Given the description of an element on the screen output the (x, y) to click on. 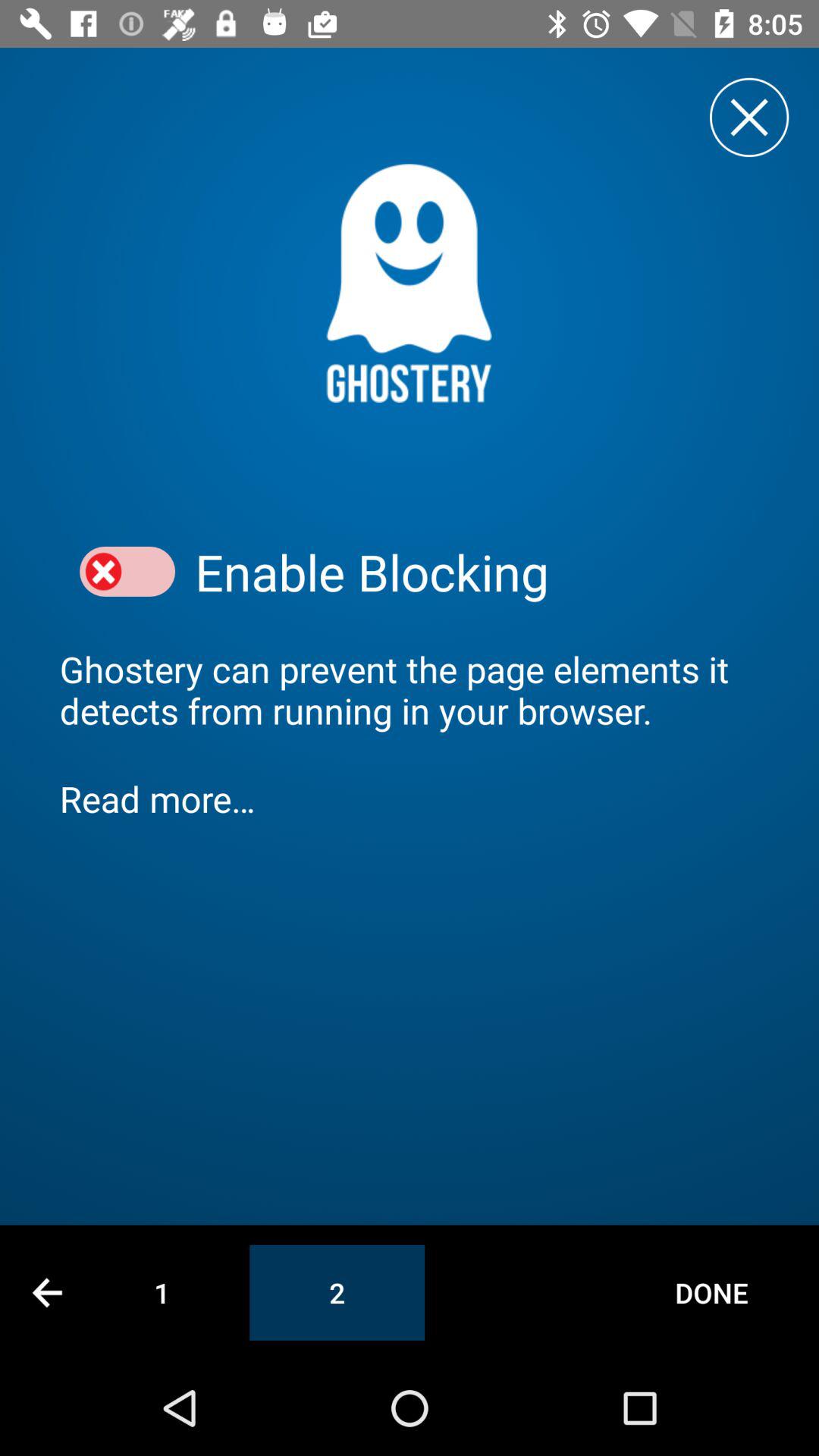
open icon above ghostery can prevent (127, 571)
